Given the description of an element on the screen output the (x, y) to click on. 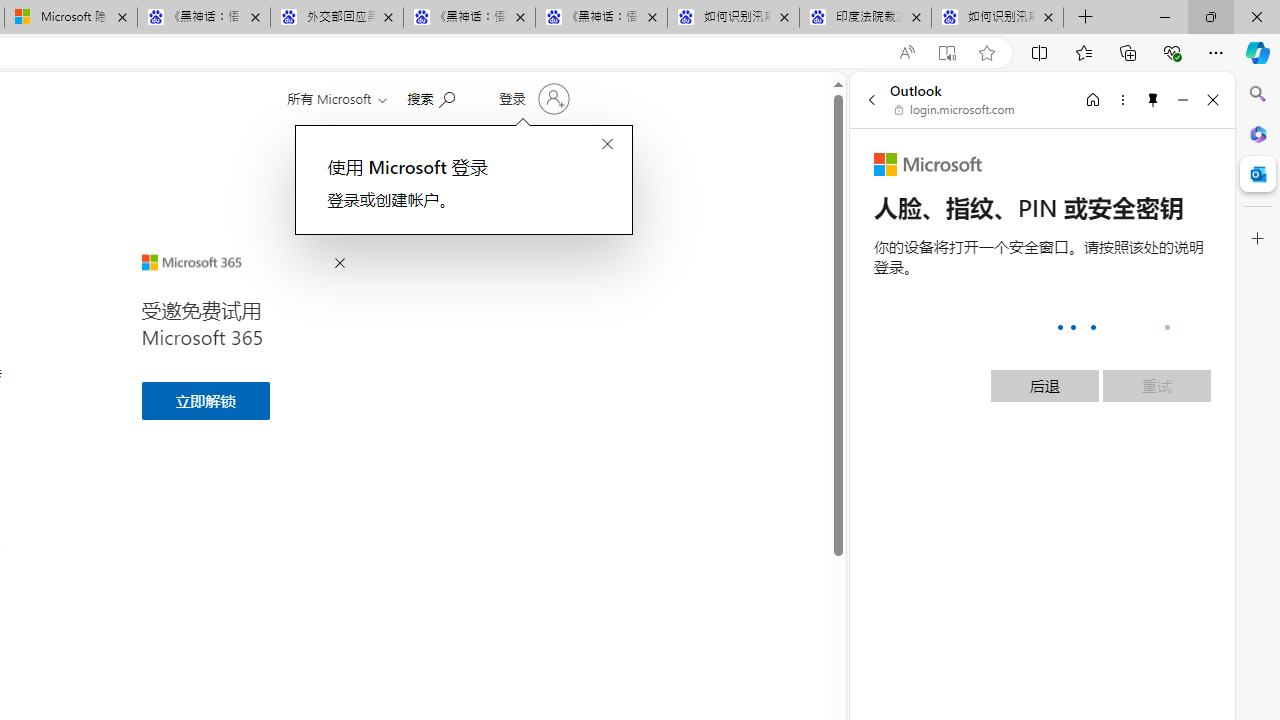
Microsoft (927, 164)
login.microsoft.com (955, 110)
Enter Immersive Reader (F9) (946, 53)
